Given the description of an element on the screen output the (x, y) to click on. 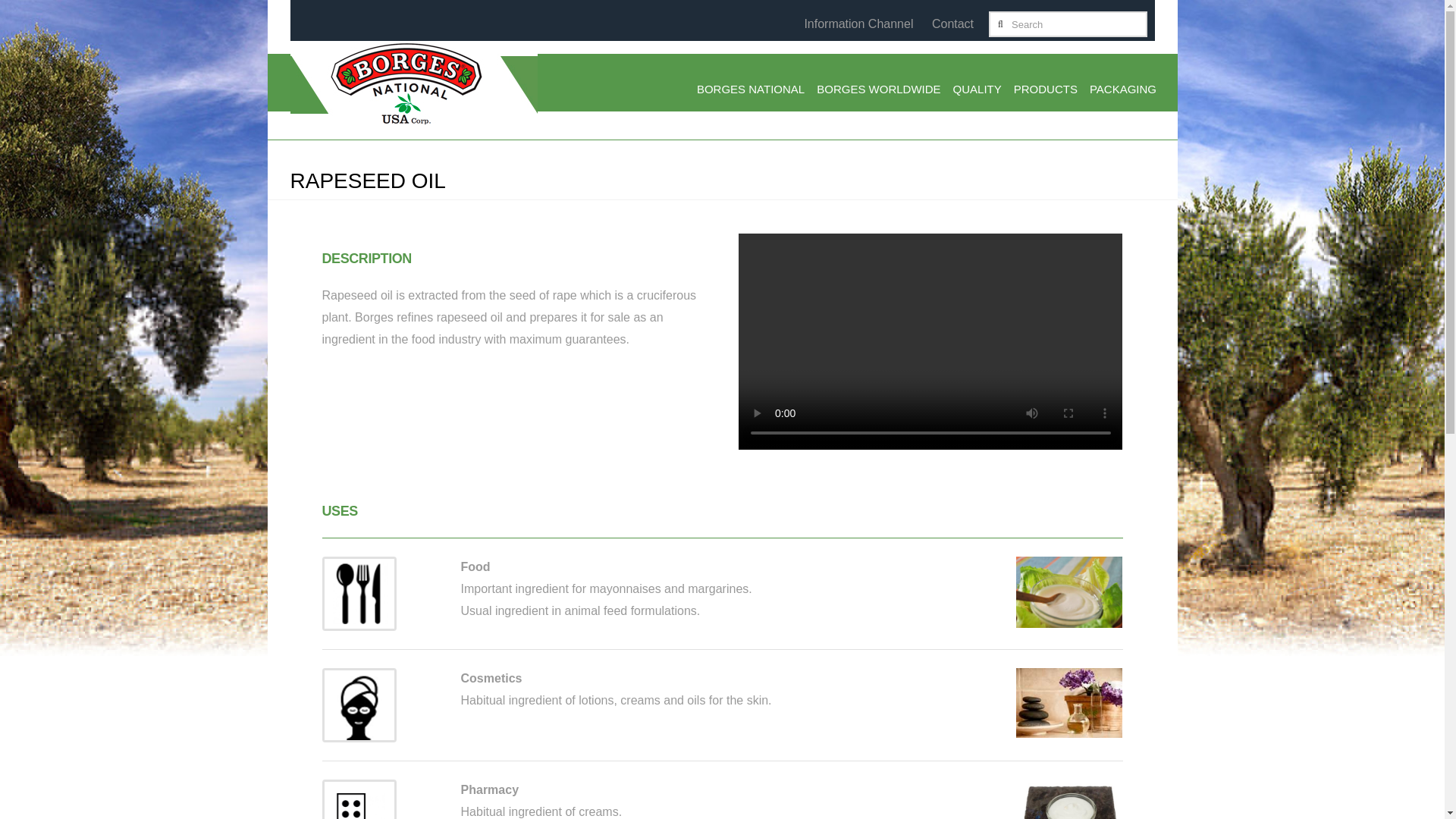
BORGES WORLDWIDE (878, 90)
PRODUCTS (1045, 90)
Information Channel (858, 23)
PACKAGING (1122, 90)
BORGES NATIONAL (750, 90)
Contact (952, 23)
QUALITY (977, 90)
